Given the description of an element on the screen output the (x, y) to click on. 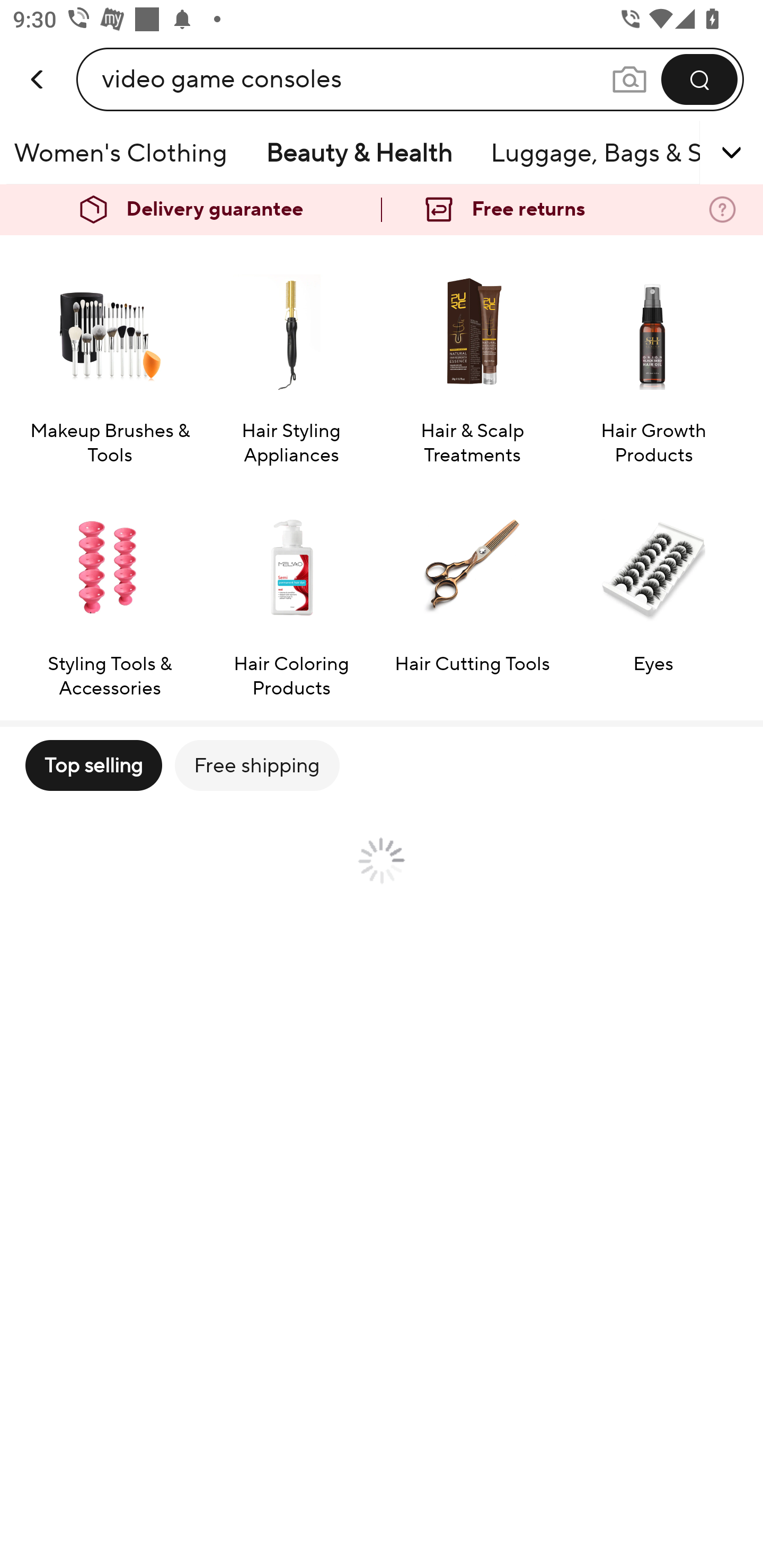
back  (38, 59)
video game consoles Search query (355, 79)
Women's Clothing (126, 152)
Luggage, Bags & Shoes (591, 152)
 (705, 152)
Delivery guarantee Free returns (381, 210)
Makeup Brushes & Tools (109, 357)
Hair Styling Appliances (290, 357)
Hair & Scalp Treatments (471, 357)
Hair Growth Products (653, 357)
Styling Tools & Accessories (109, 590)
Hair Coloring Products (290, 590)
Hair Cutting Tools (471, 590)
Eyes (653, 590)
Top selling (93, 765)
Free shipping (256, 765)
